Given the description of an element on the screen output the (x, y) to click on. 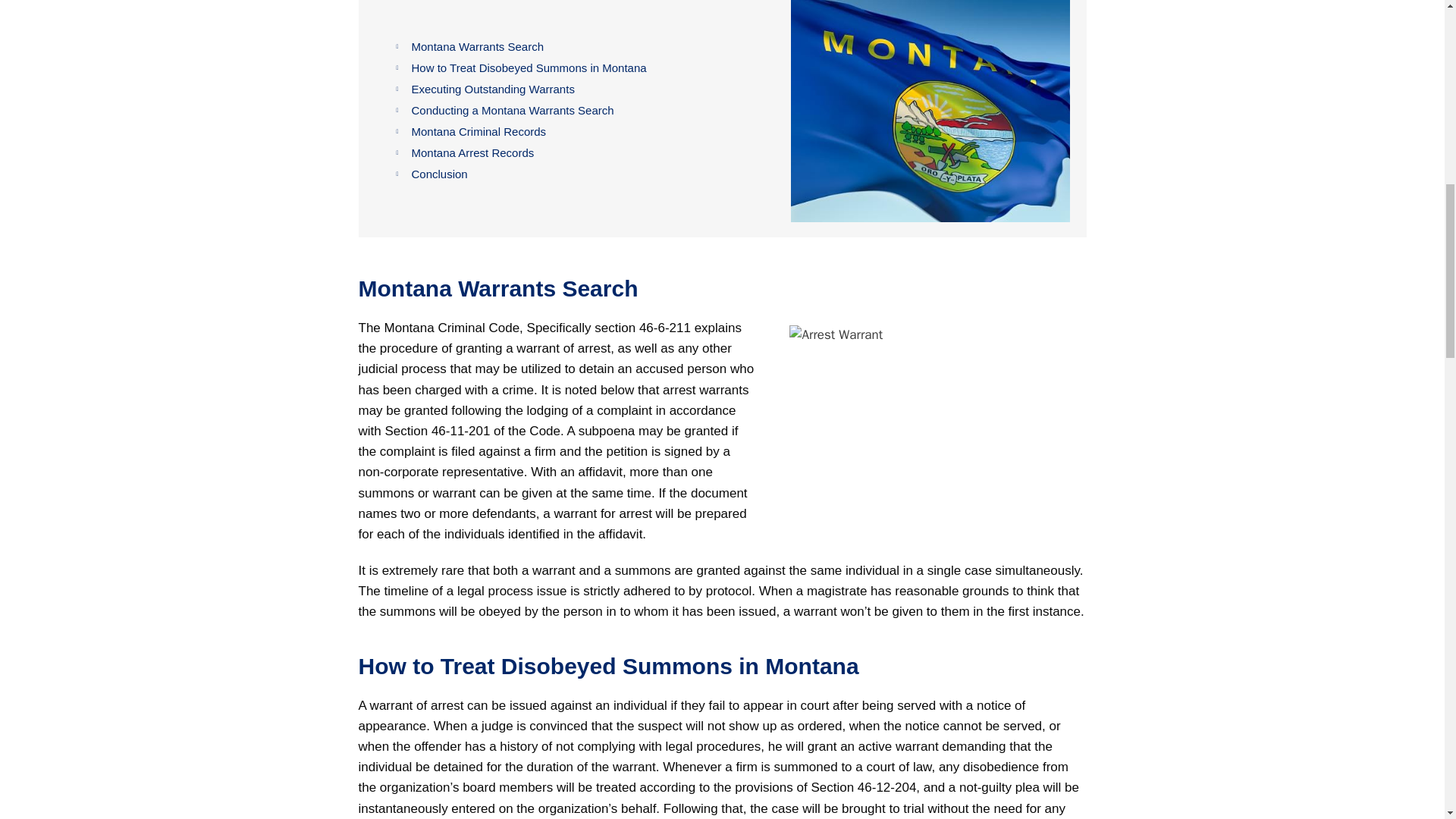
Executing Outstanding Warrants (586, 89)
Montana Criminal Records (586, 131)
How to Treat Disobeyed Summons in Montana (586, 68)
Montana Arrest Records (586, 152)
Montana Warrants Search (586, 47)
Conducting a Montana Warrants Search (586, 110)
Conclusion (586, 173)
